Given the description of an element on the screen output the (x, y) to click on. 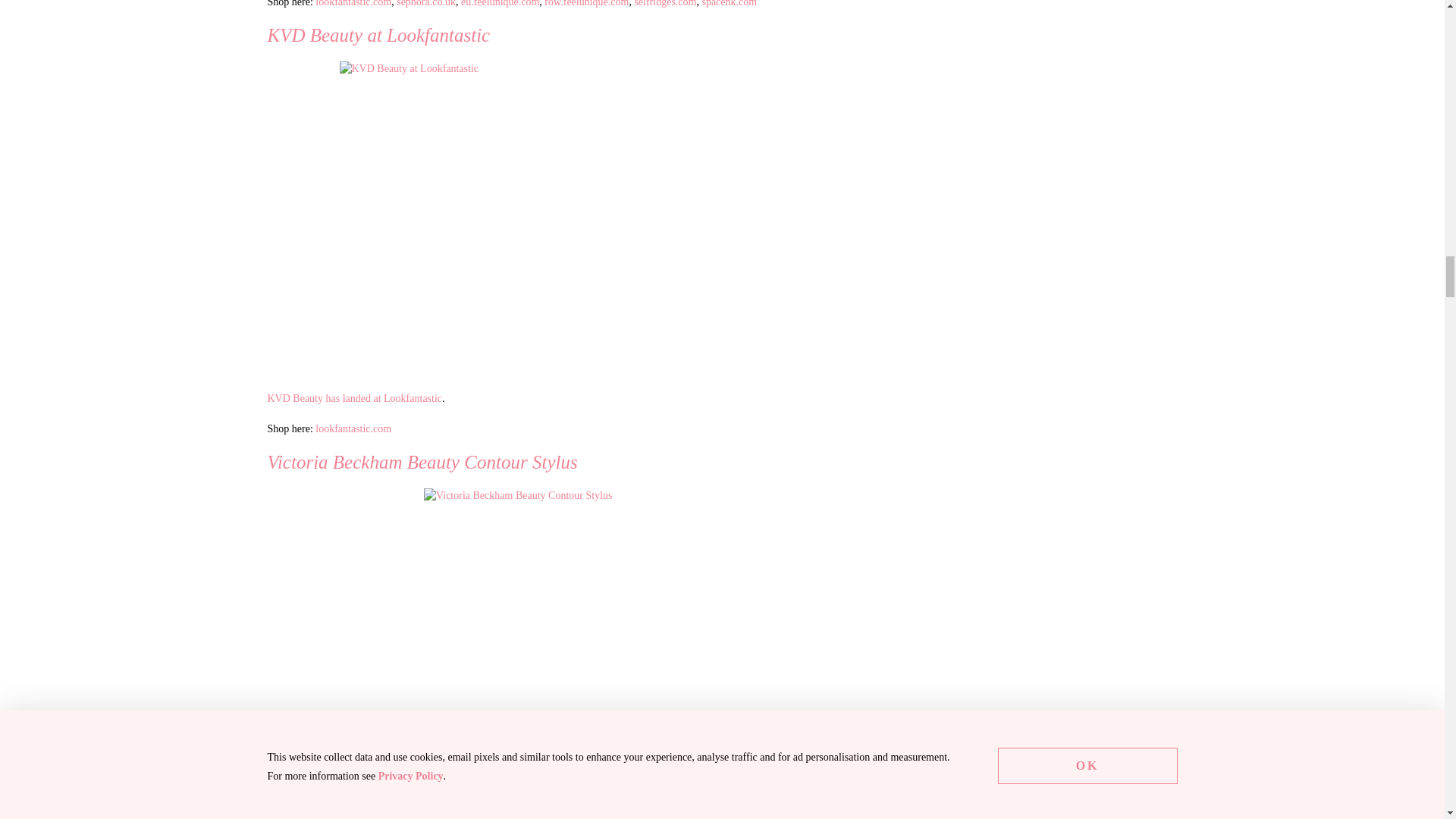
Victoria Beckham Beauty Contour Stylus (613, 653)
